Given the description of an element on the screen output the (x, y) to click on. 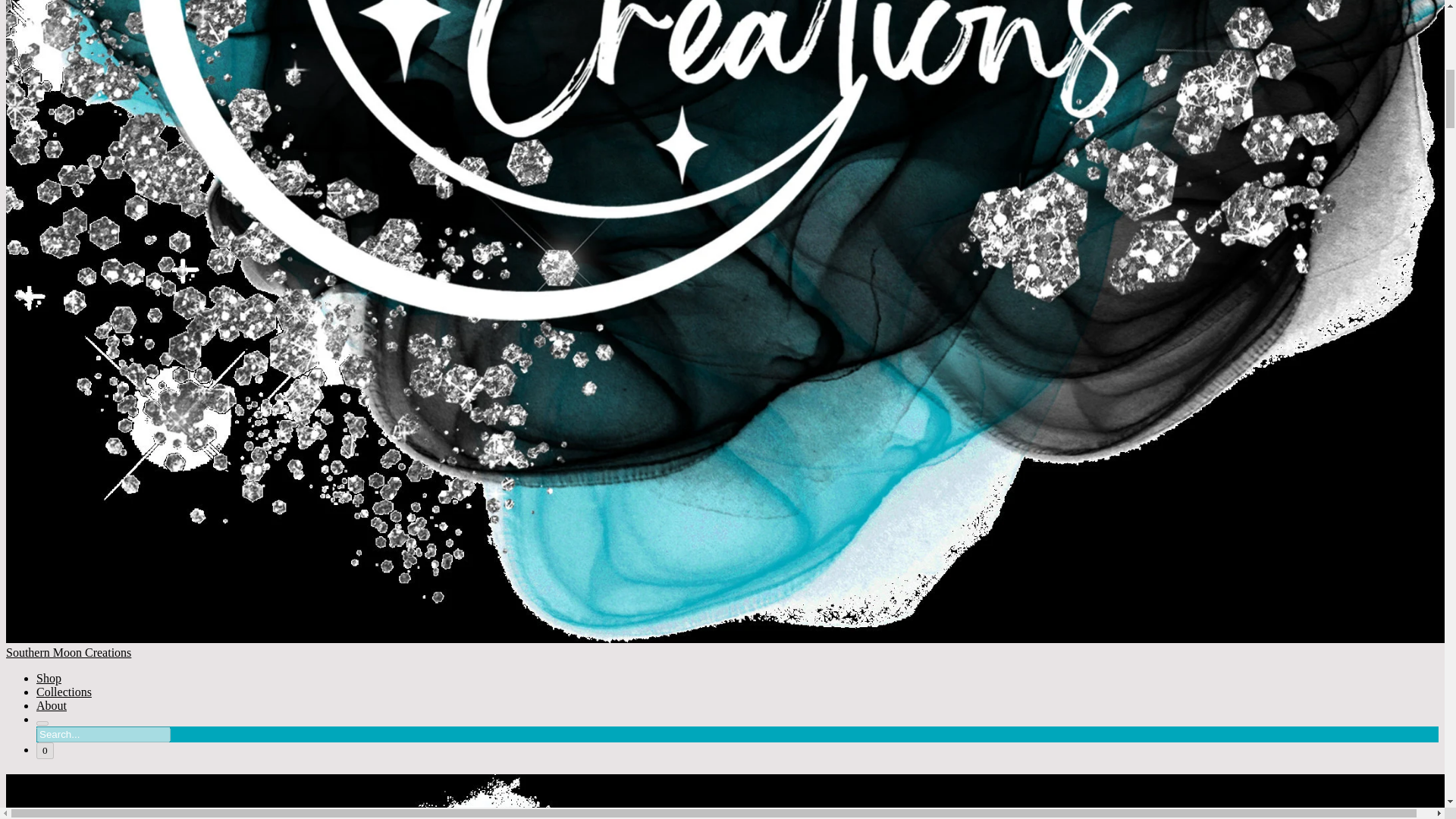
Southern Moon Creations (721, 796)
Shop (48, 677)
0 (44, 750)
About (51, 705)
Collections (63, 691)
